Given the description of an element on the screen output the (x, y) to click on. 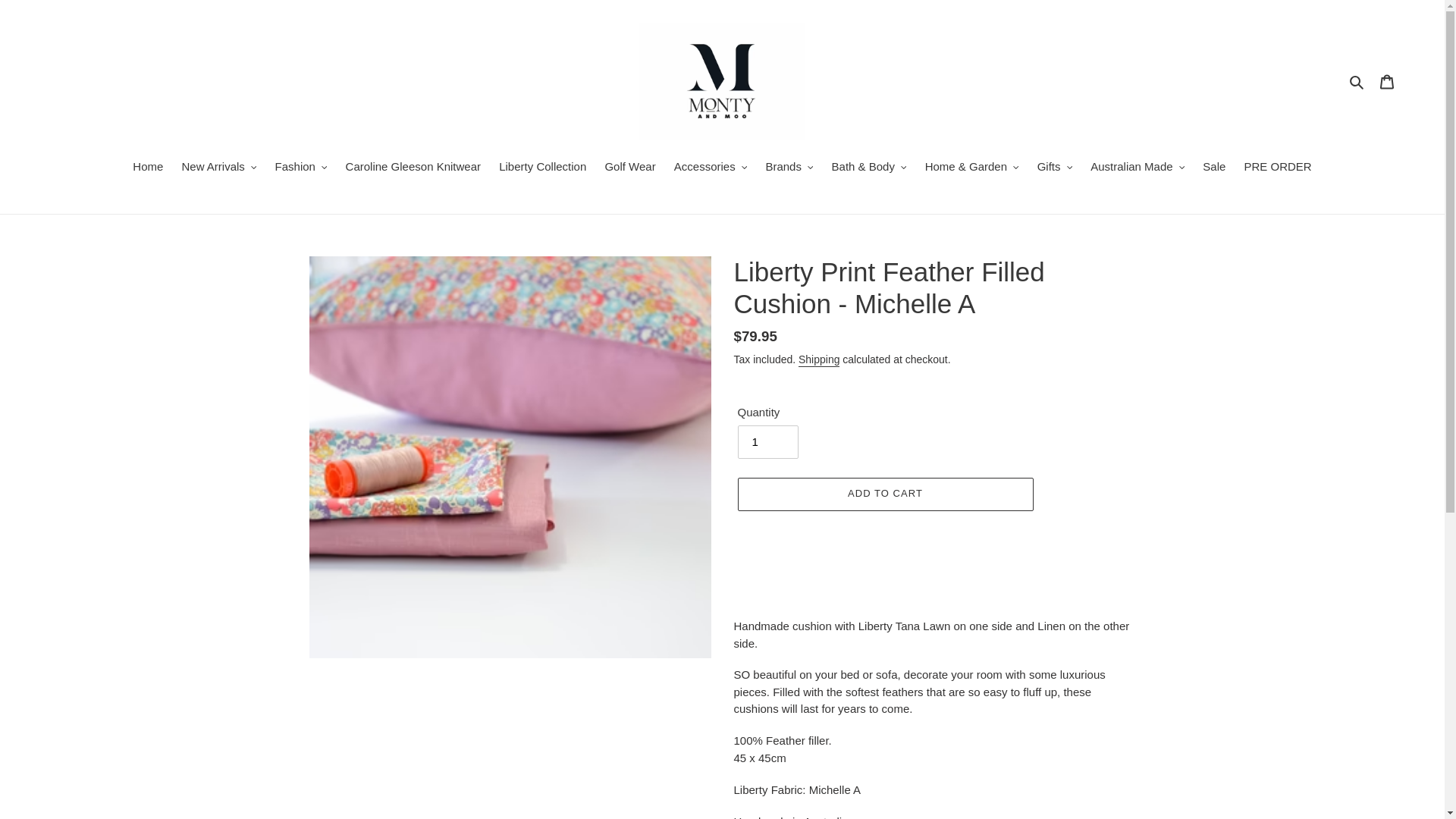
Search (1357, 81)
Cart (1387, 81)
1 (766, 441)
